Given the description of an element on the screen output the (x, y) to click on. 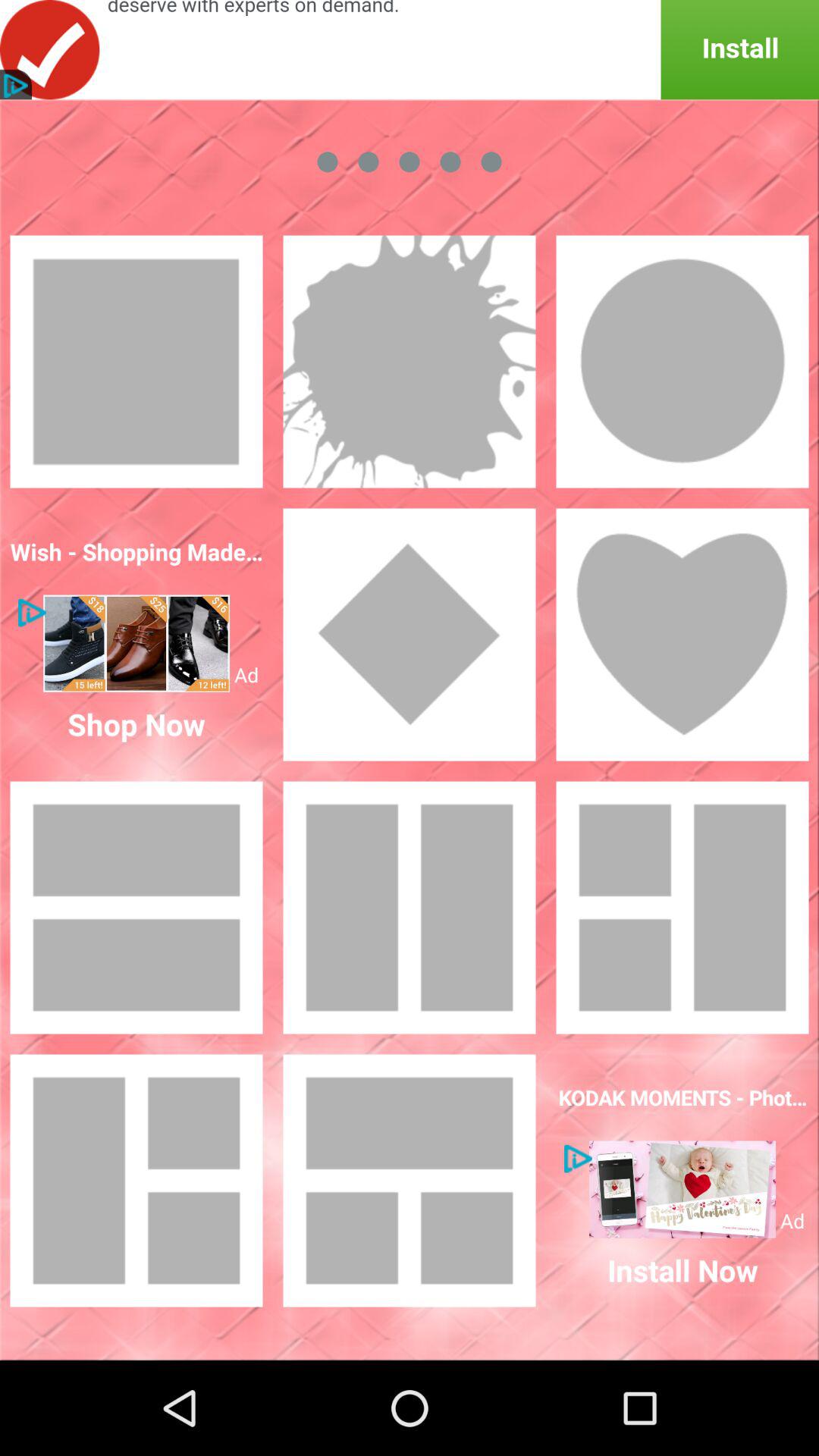
select shape (409, 361)
